Given the description of an element on the screen output the (x, y) to click on. 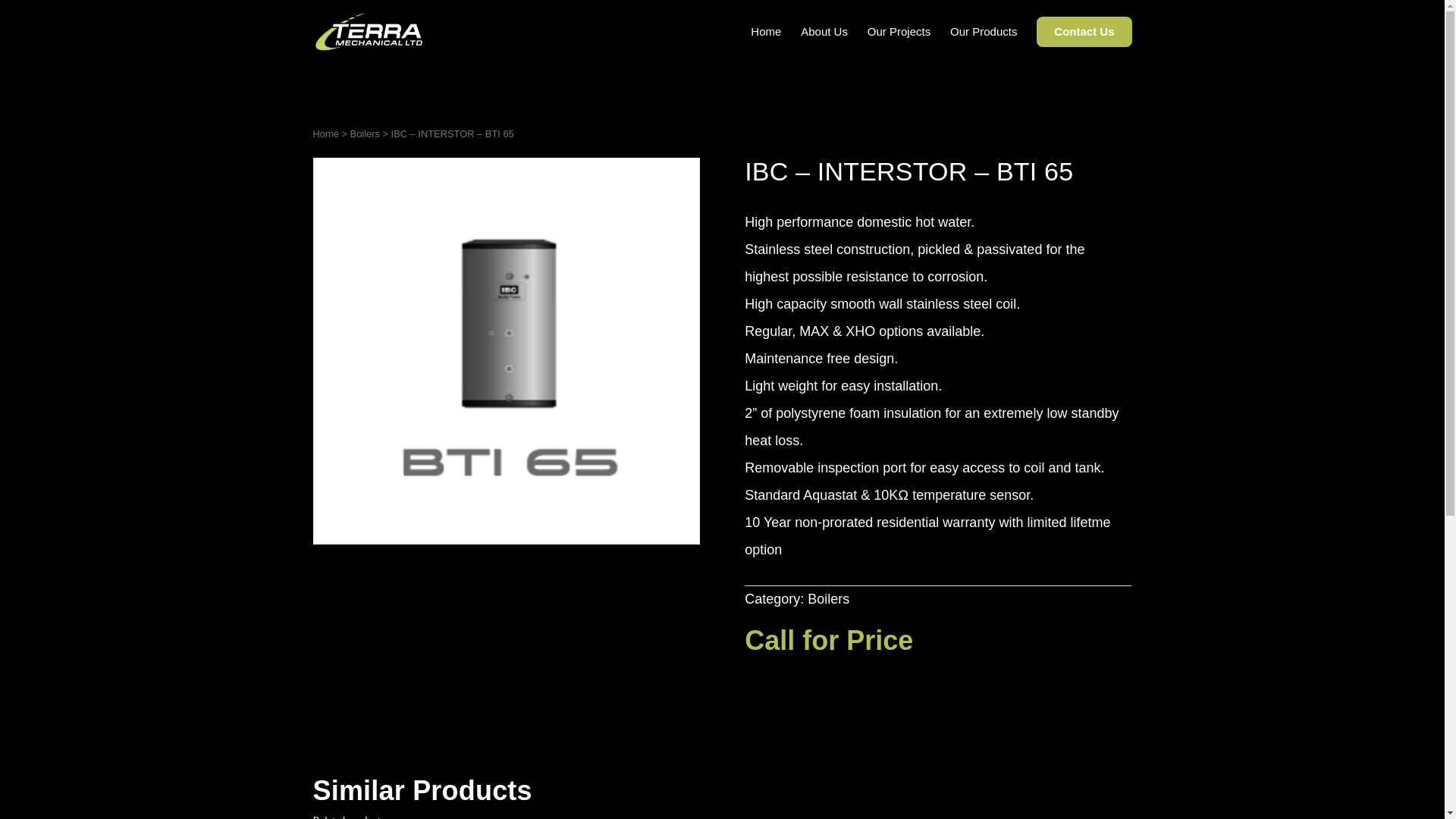
Our Products (983, 44)
Our Projects (898, 44)
Boilers (365, 133)
Contact Us (1083, 39)
About Us (823, 44)
Boilers (828, 598)
Home (325, 133)
